Given the description of an element on the screen output the (x, y) to click on. 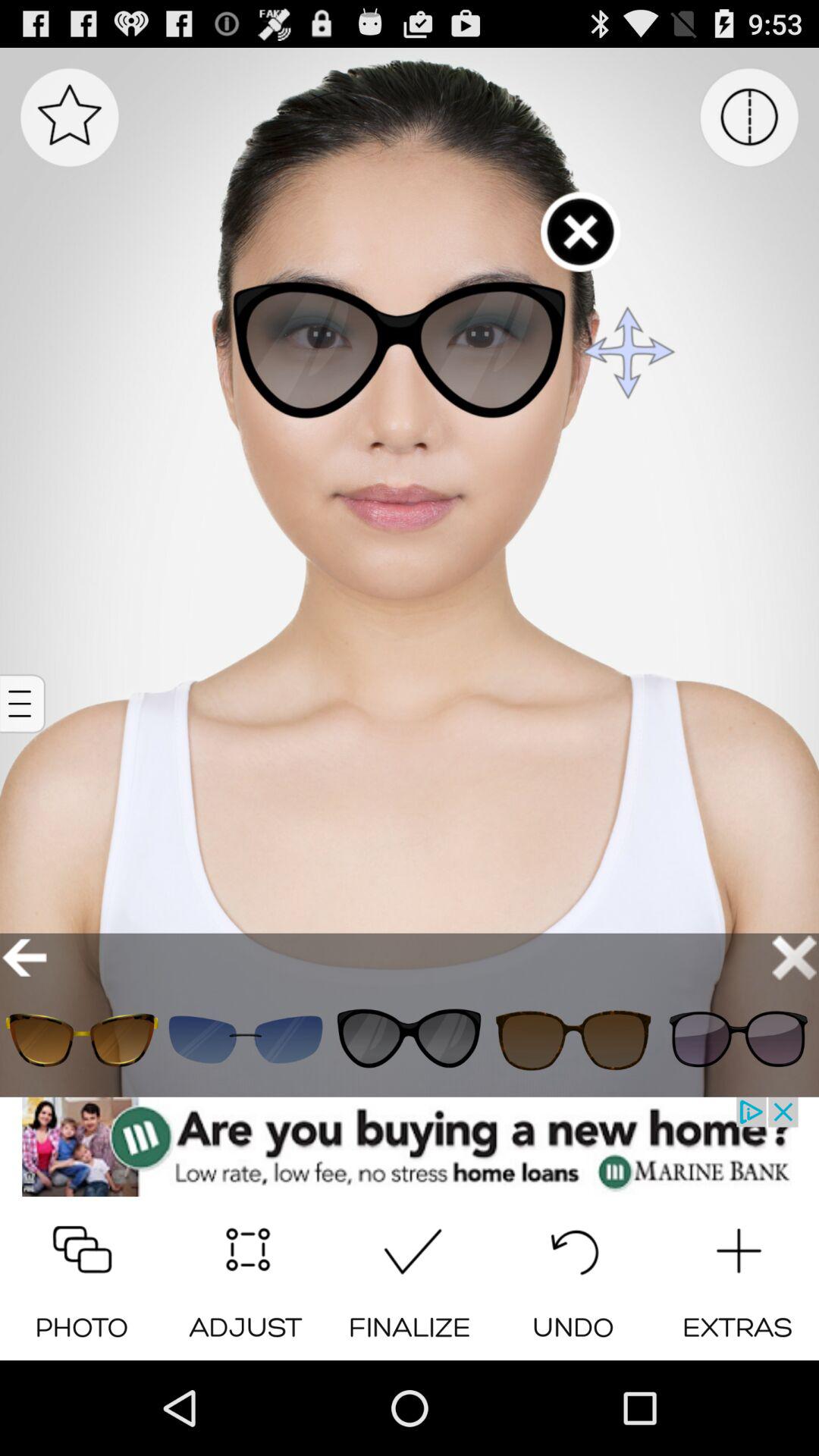
symmetry button (749, 117)
